Given the description of an element on the screen output the (x, y) to click on. 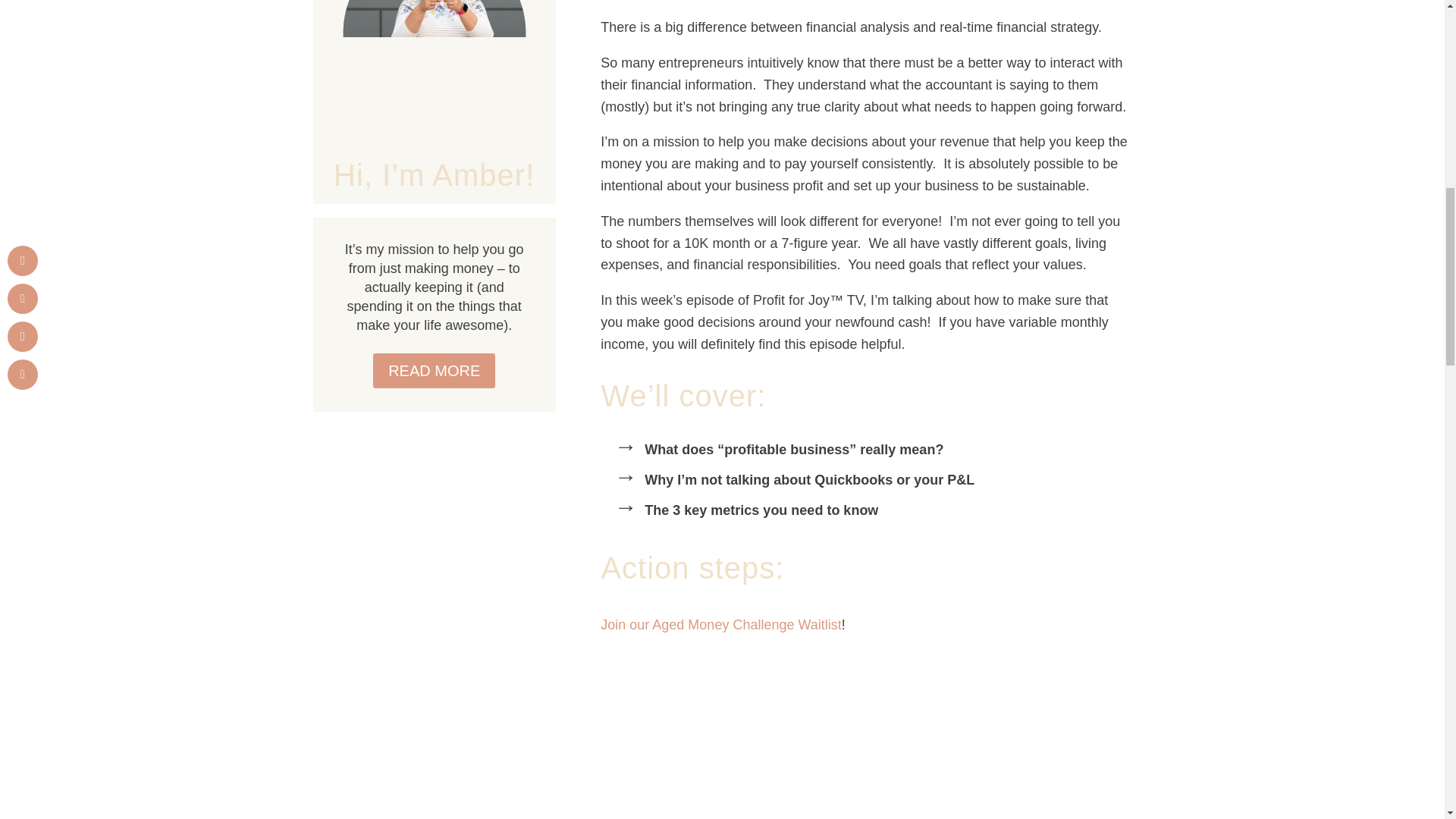
3 Key Financial Metrics for Profitable Businesses (722, 745)
READ MORE (433, 370)
Join our Aged Money Challenge Waitlist (720, 624)
